Given the description of an element on the screen output the (x, y) to click on. 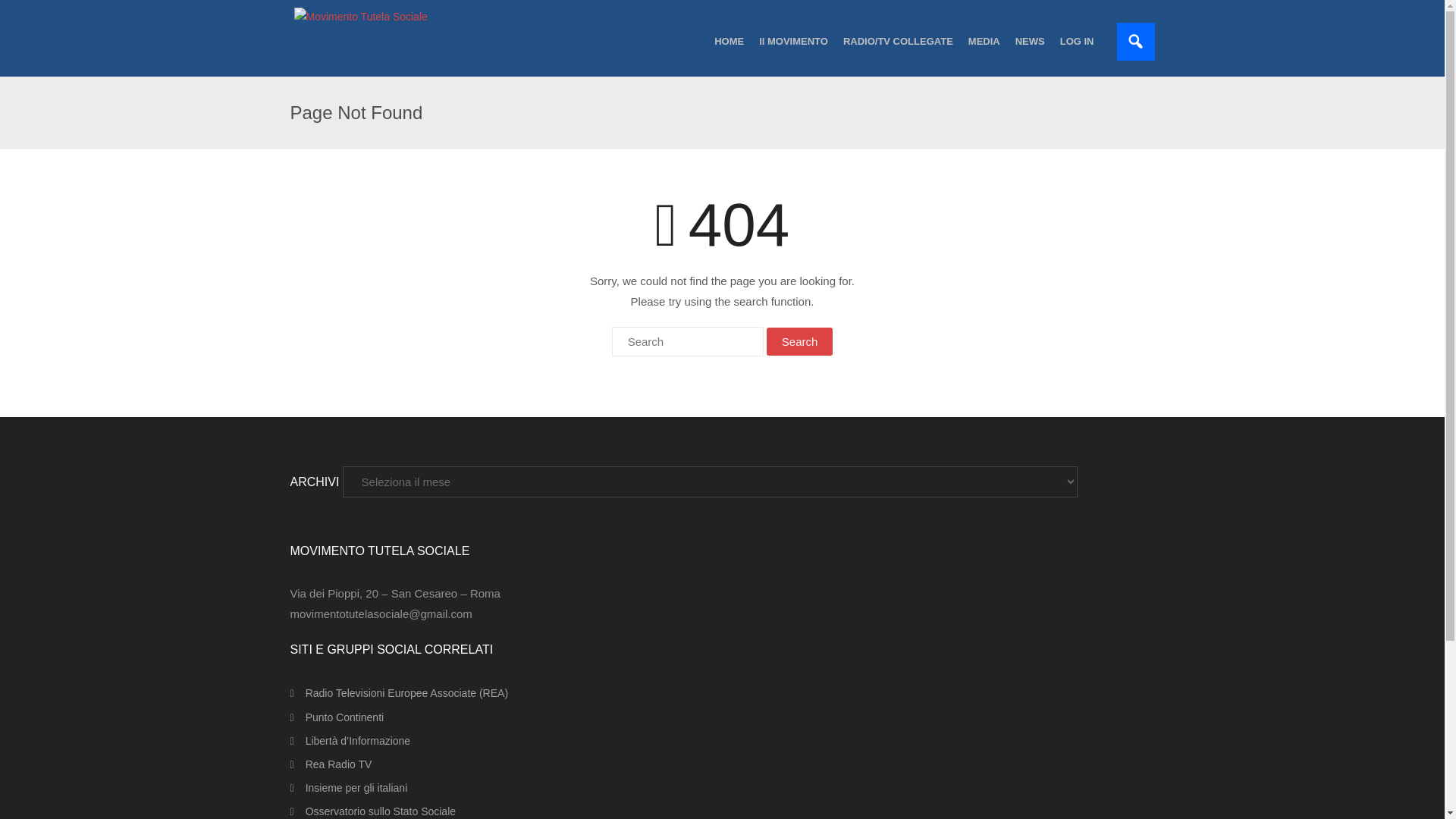
Il MOVIMENTO (793, 40)
Search (799, 341)
Insieme per gli italiani (348, 788)
Punto Continenti (336, 717)
Search (799, 341)
Search (799, 341)
Osservatorio sullo Stato Sociale (372, 810)
Search (29, 12)
Rea Radio TV (330, 764)
